Given the description of an element on the screen output the (x, y) to click on. 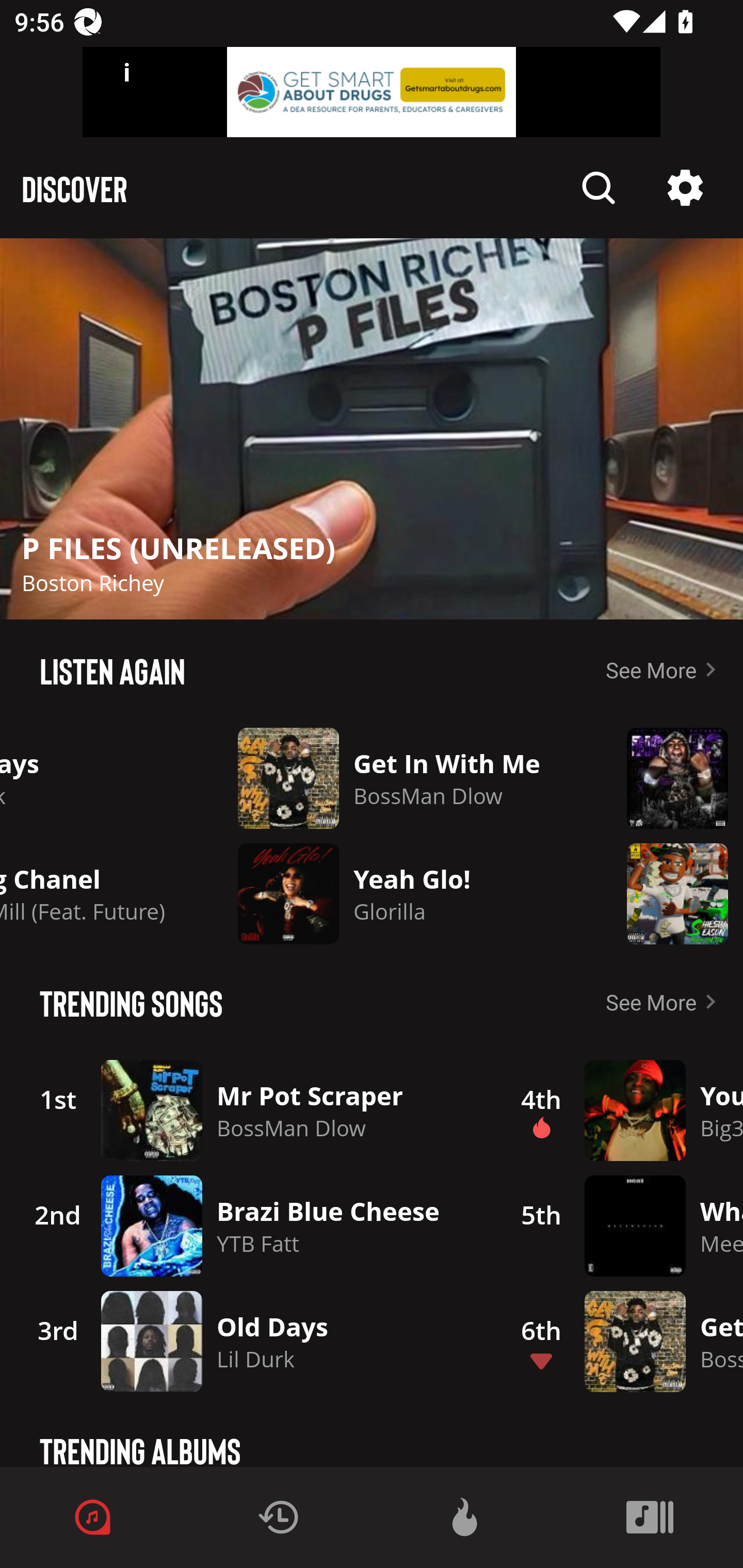
Description (598, 188)
Description (684, 188)
Description (371, 428)
See More (664, 669)
Description Get In With Me BossMan Dlow (395, 778)
Description Murda Day Big30 (670, 778)
Description Yeah Glo! Glorilla (395, 893)
See More (664, 1001)
1st Description Mr Pot Scraper BossMan Dlow (248, 1110)
4th Description Description You Thought Big30 (620, 1110)
2nd Description Brazi Blue Cheese YTB Fatt (248, 1226)
3rd Description Old Days Lil Durk (248, 1341)
